Given the description of an element on the screen output the (x, y) to click on. 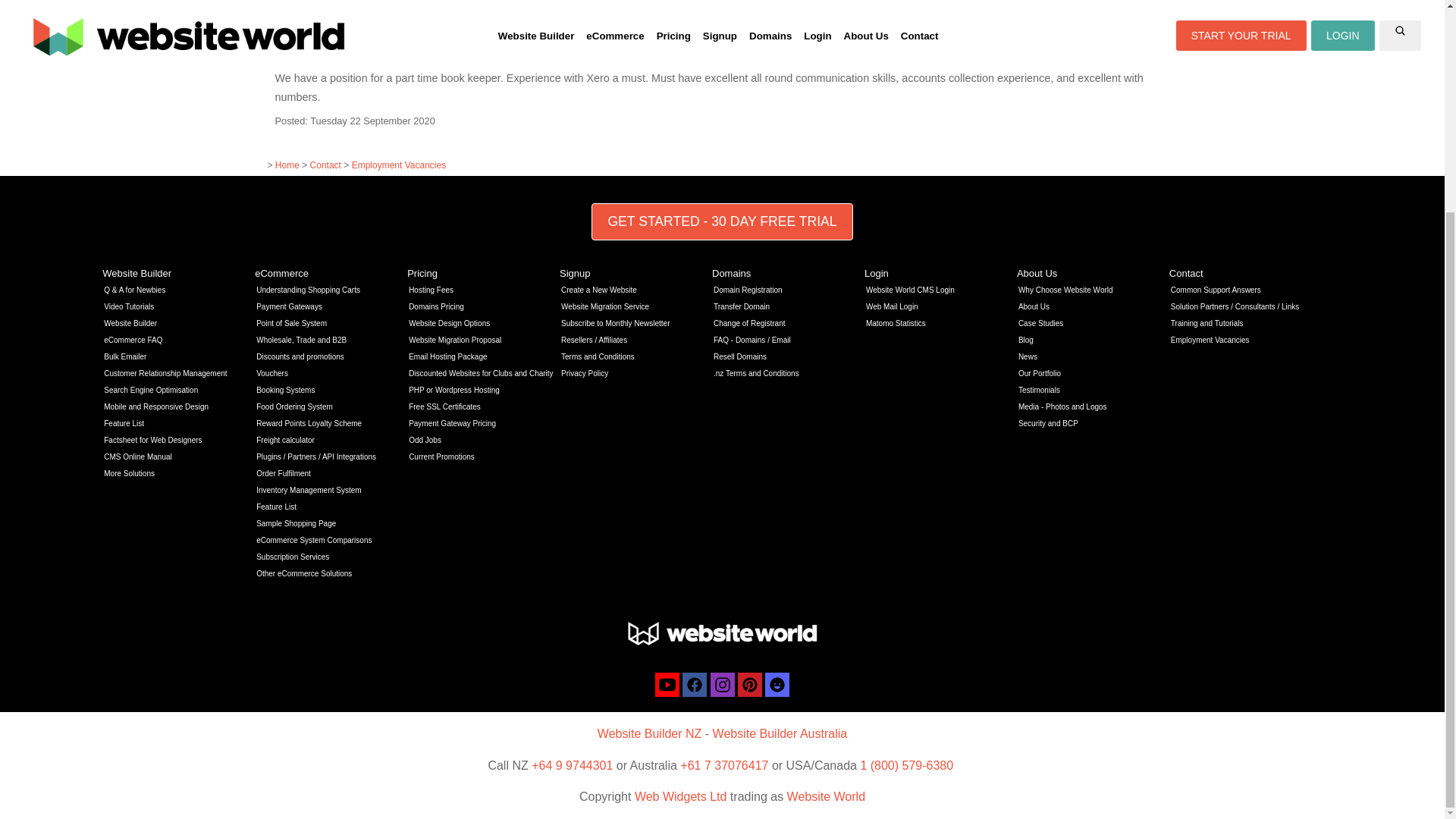
Connect with us: Facebook websitebuilderworld (694, 684)
